Given the description of an element on the screen output the (x, y) to click on. 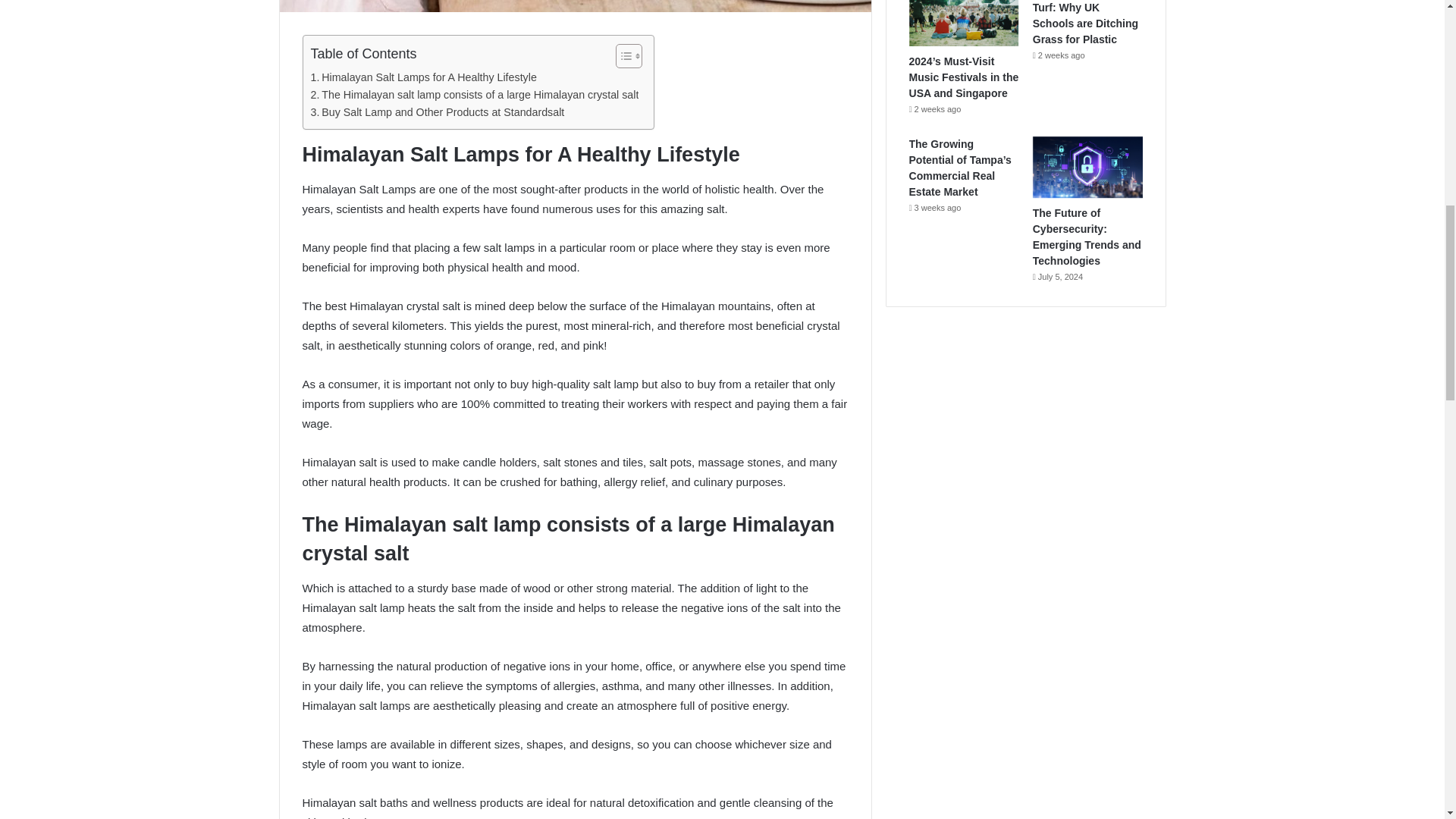
Himalayan Salt Lamps for A Healthy Lifestyle (424, 77)
